Given the description of an element on the screen output the (x, y) to click on. 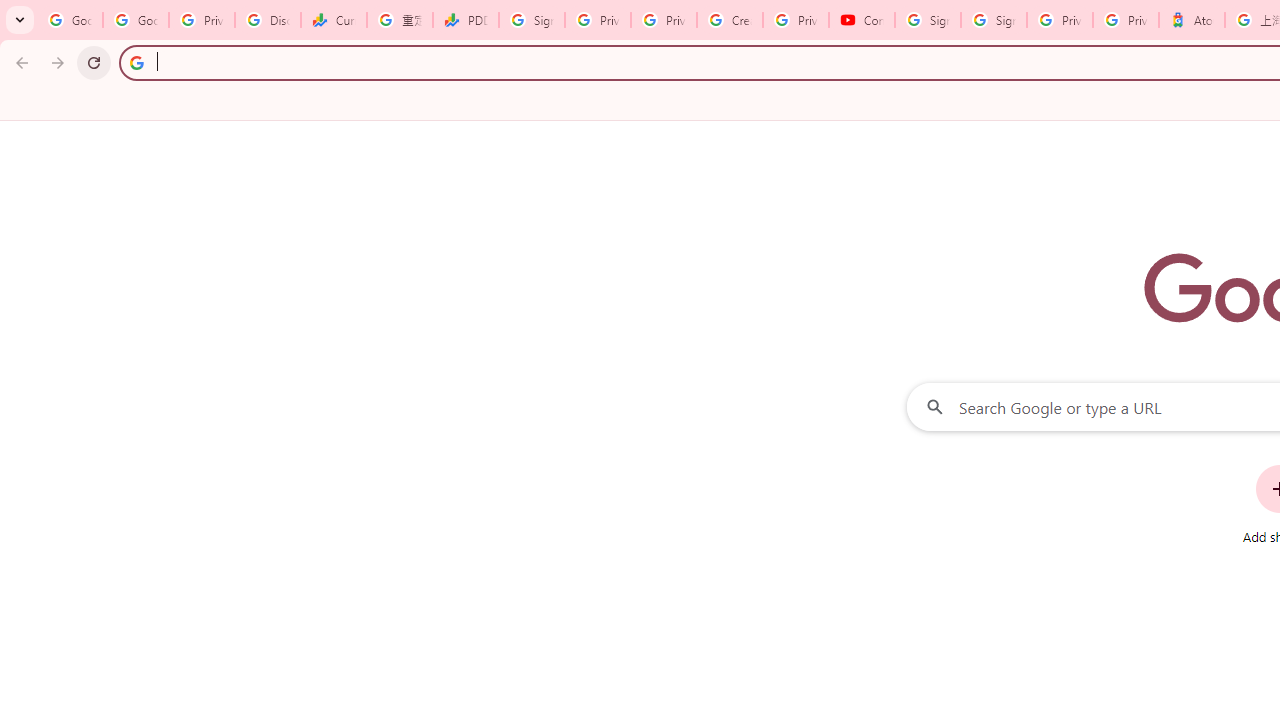
Google Workspace Admin Community (70, 20)
Sign in - Google Accounts (531, 20)
Privacy Checkup (664, 20)
Content Creator Programs & Opportunities - YouTube Creators (861, 20)
Atour Hotel - Google hotels (1191, 20)
Sign in - Google Accounts (993, 20)
